Given the description of an element on the screen output the (x, y) to click on. 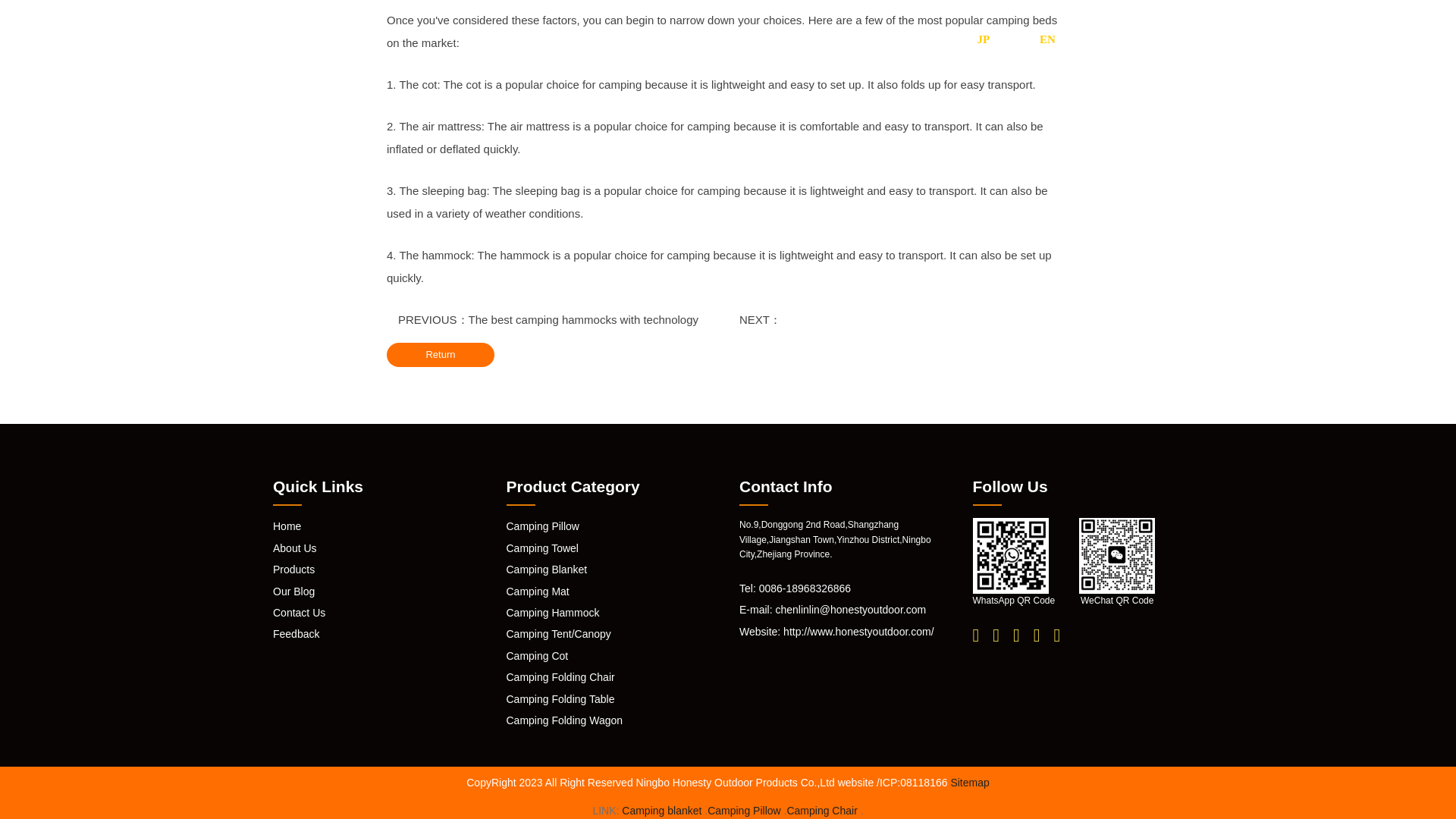
The best camping hammocks with technology (583, 318)
